Given the description of an element on the screen output the (x, y) to click on. 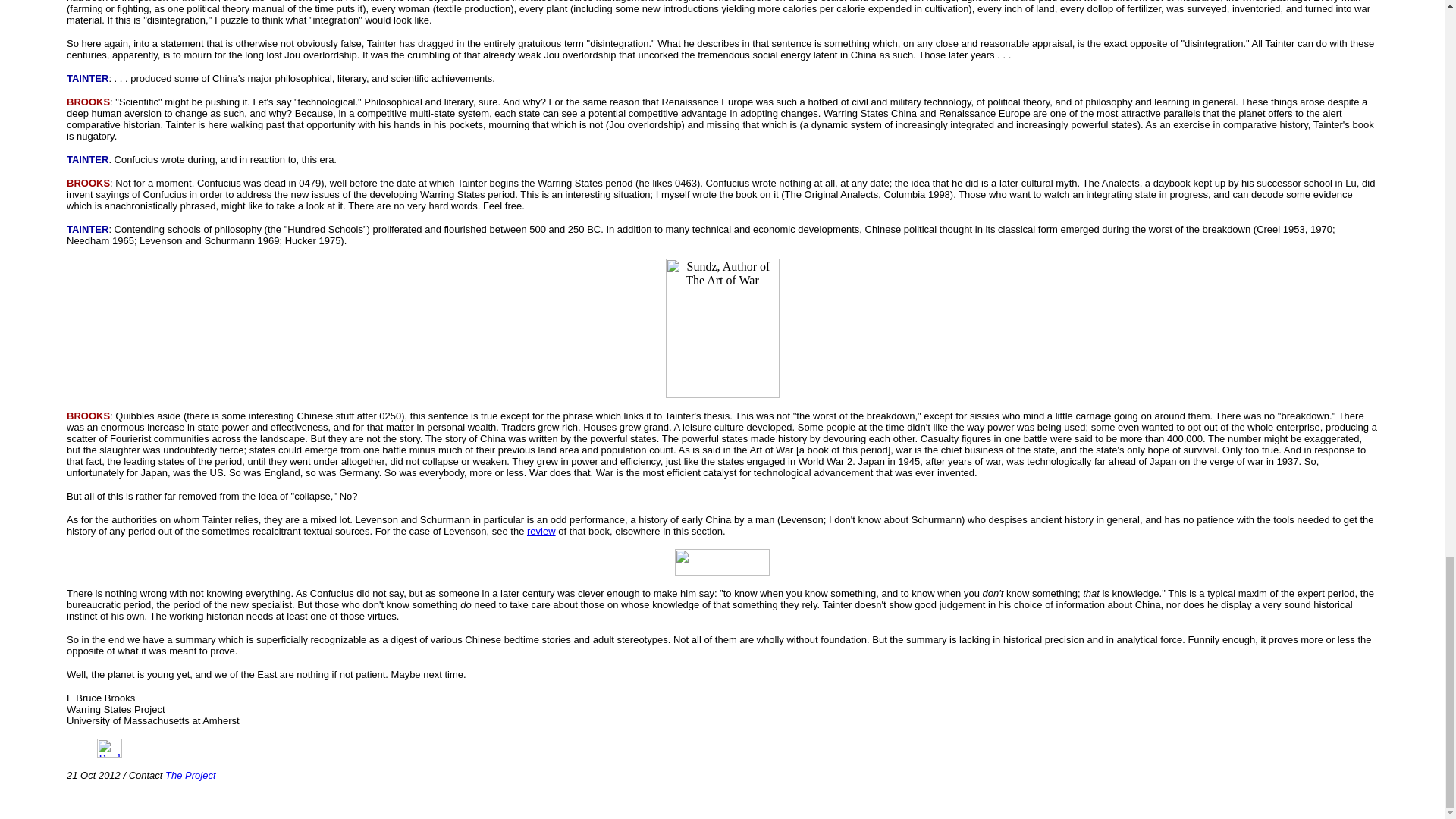
review (541, 531)
The Project (190, 775)
